Given the description of an element on the screen output the (x, y) to click on. 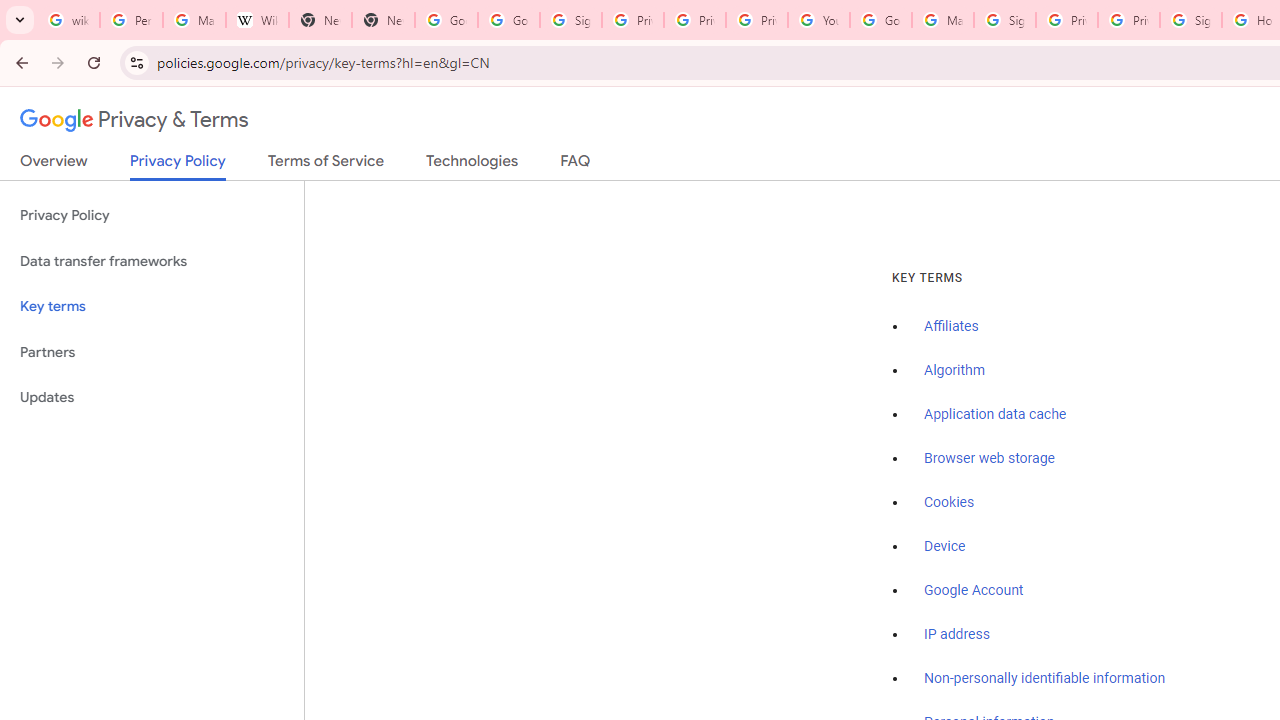
New Tab (383, 20)
Device (945, 546)
Sign in - Google Accounts (1190, 20)
Sign in - Google Accounts (570, 20)
YouTube (818, 20)
IP address (956, 634)
